Given the description of an element on the screen output the (x, y) to click on. 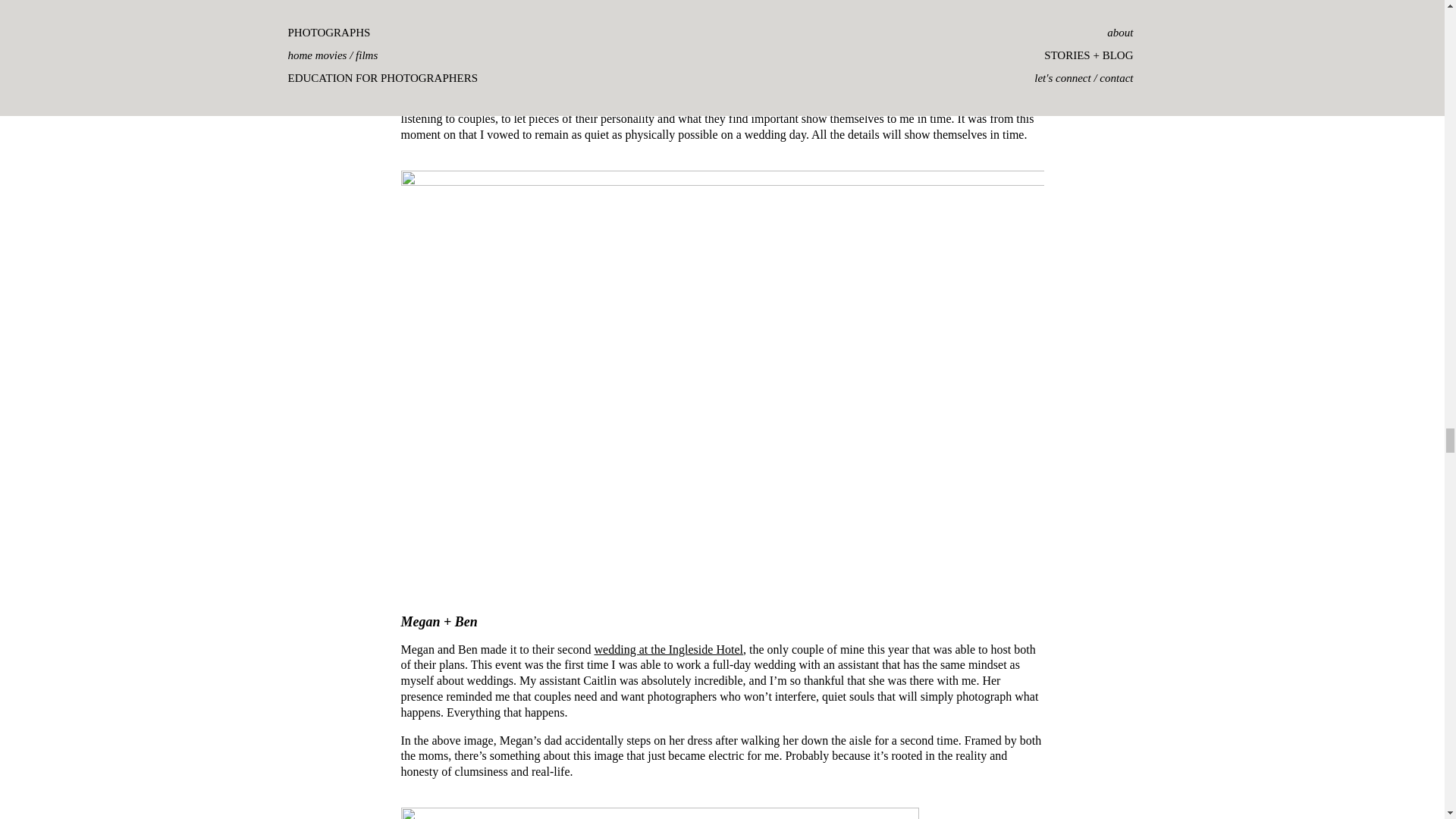
This little Madeline Island elopement (784, 103)
wedding at the Ingleside Hotel (668, 649)
